Given the description of an element on the screen output the (x, y) to click on. 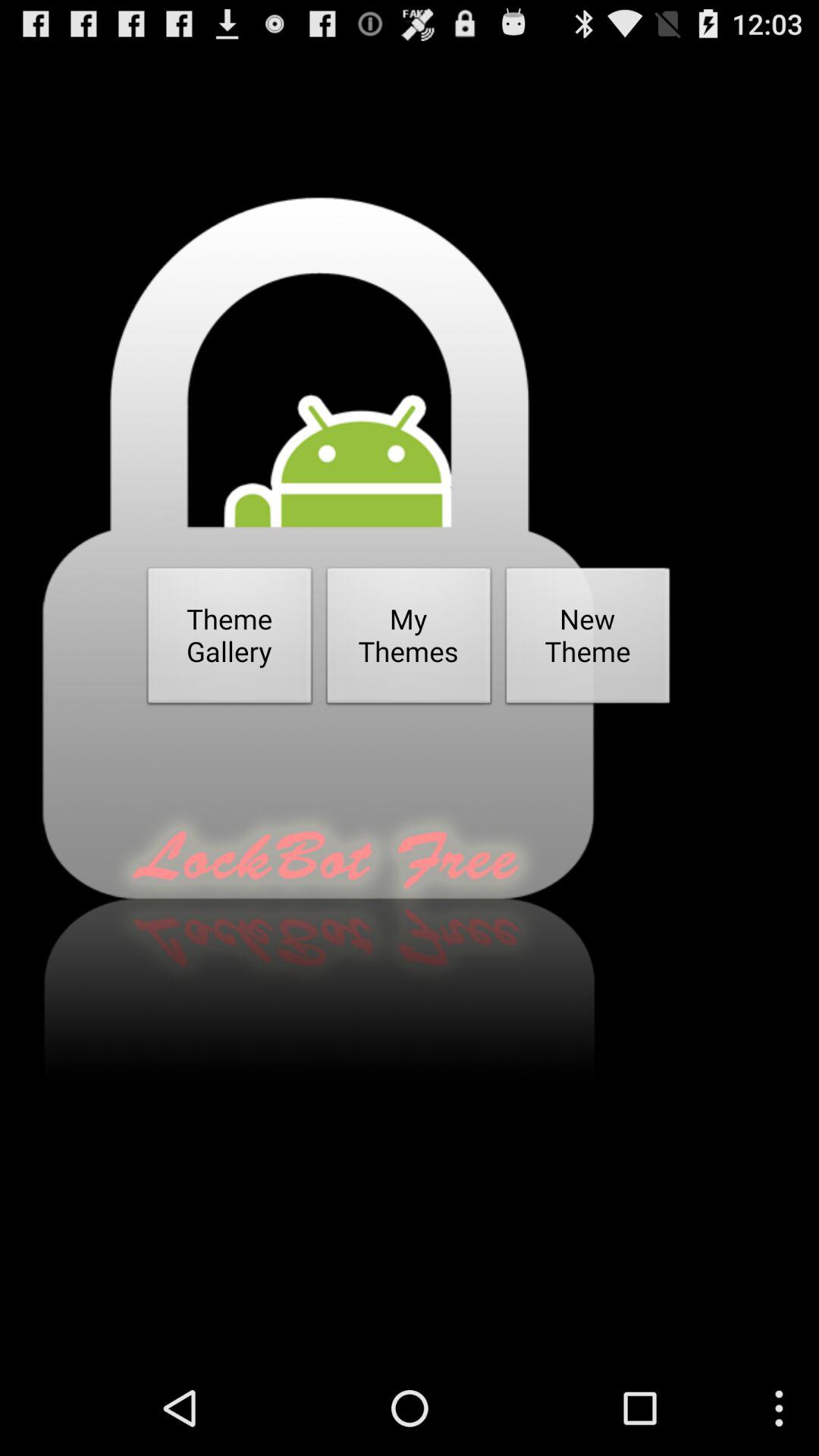
choose button next to theme gallery icon (408, 639)
